Given the description of an element on the screen output the (x, y) to click on. 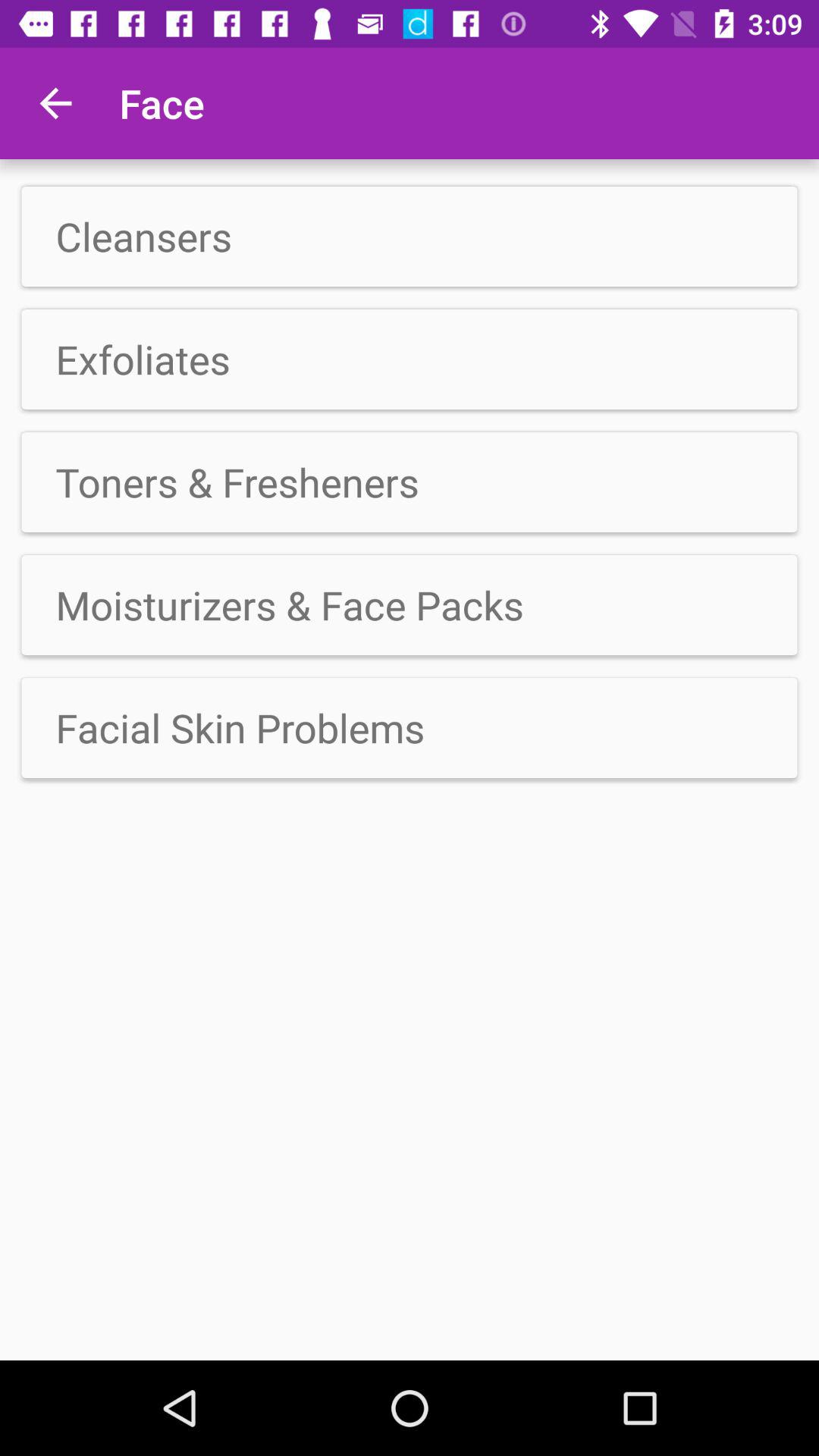
launch item above the toners & fresheners (409, 359)
